Given the description of an element on the screen output the (x, y) to click on. 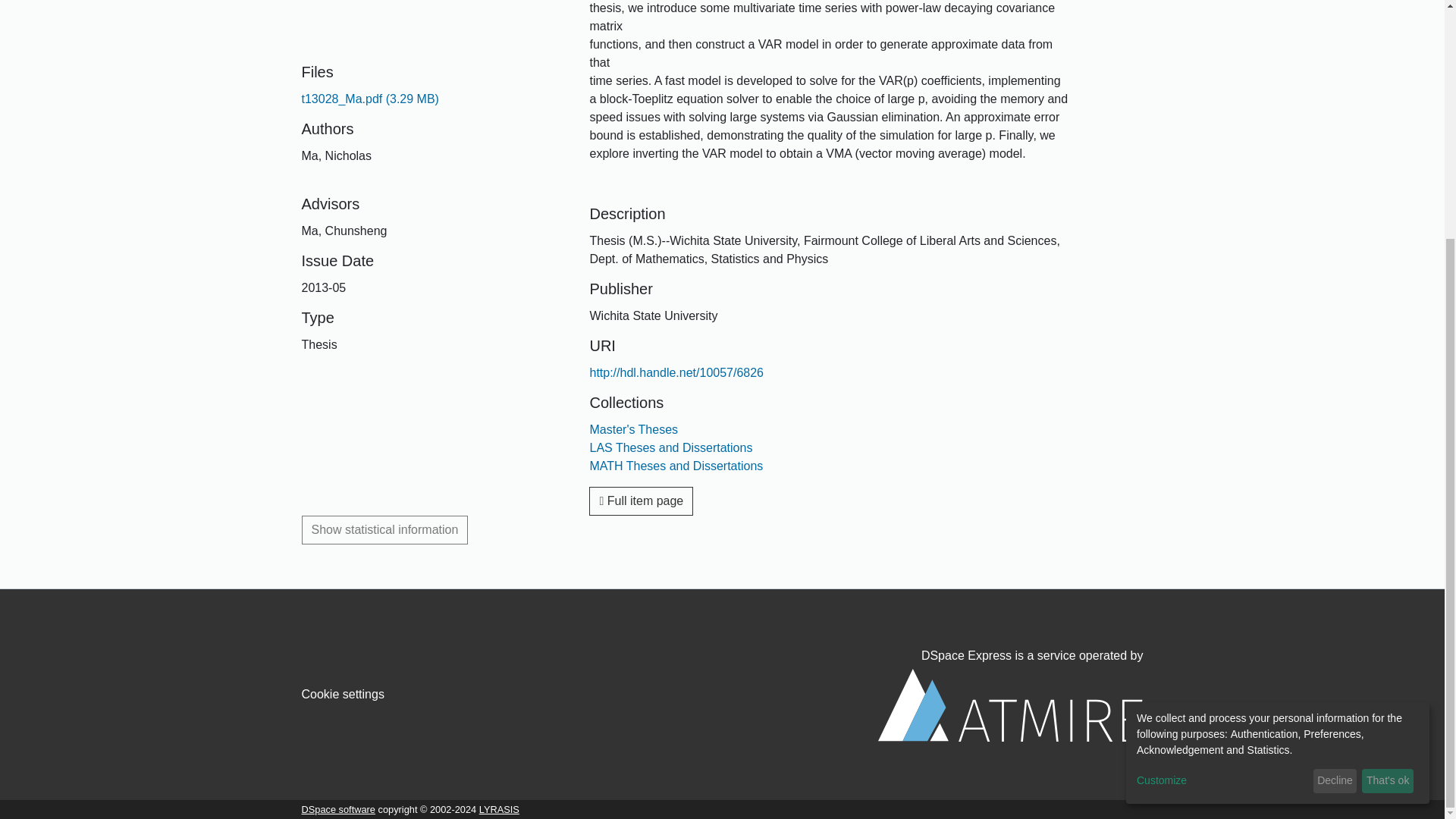
Cookie settings (342, 694)
That's ok (1387, 452)
Customize (1222, 452)
LYRASIS (499, 808)
Full item page (641, 500)
MATH Theses and Dissertations (675, 465)
Show statistical information (384, 529)
DSpace software (338, 808)
Decline (1334, 452)
DSpace Express is a service operated by (1009, 695)
LAS Theses and Dissertations (670, 447)
Master's Theses (633, 429)
